Given the description of an element on the screen output the (x, y) to click on. 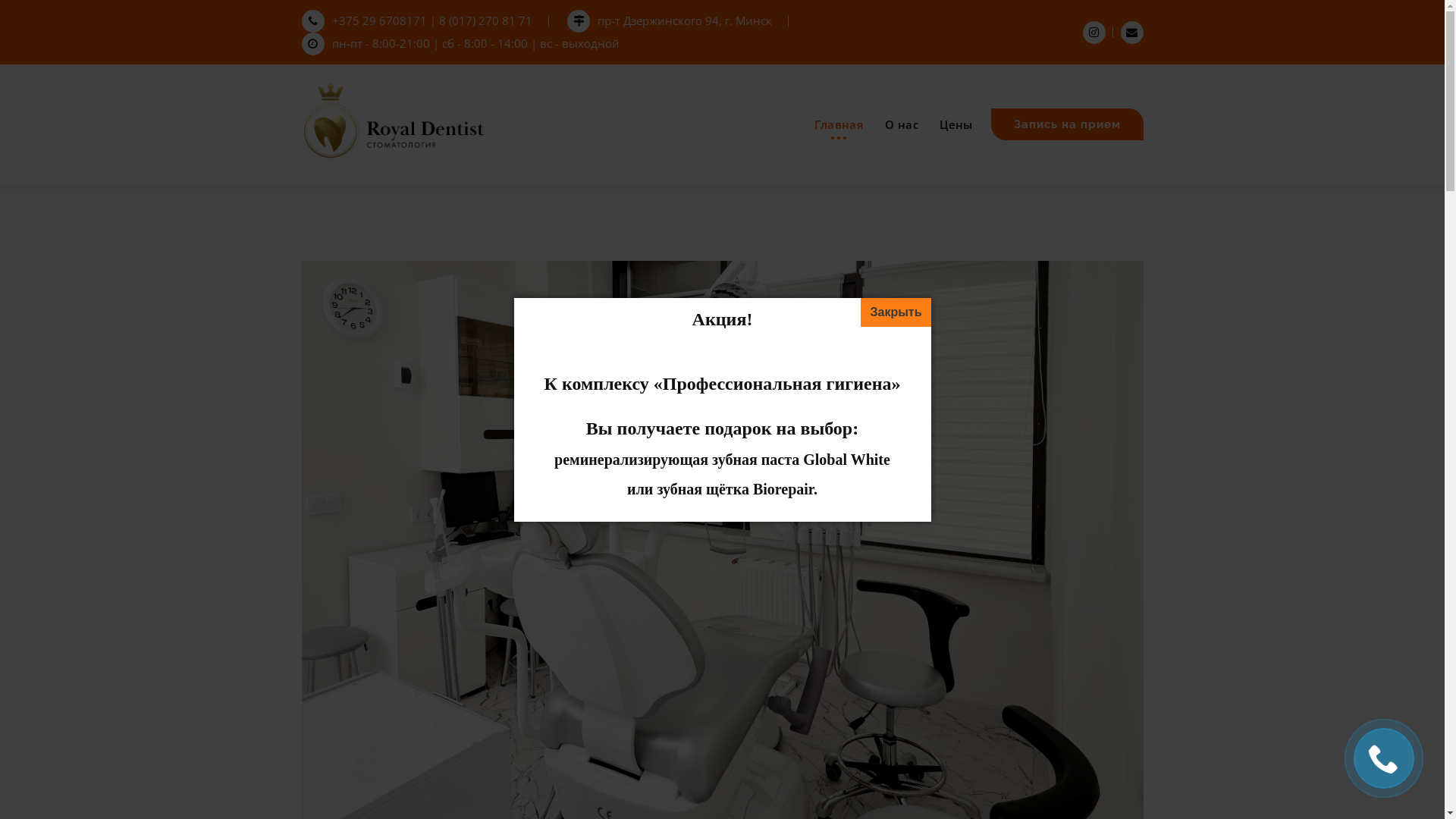
+375 29 6708171 | 8 (017) 270 81 71 Element type: text (416, 19)
